Given the description of an element on the screen output the (x, y) to click on. 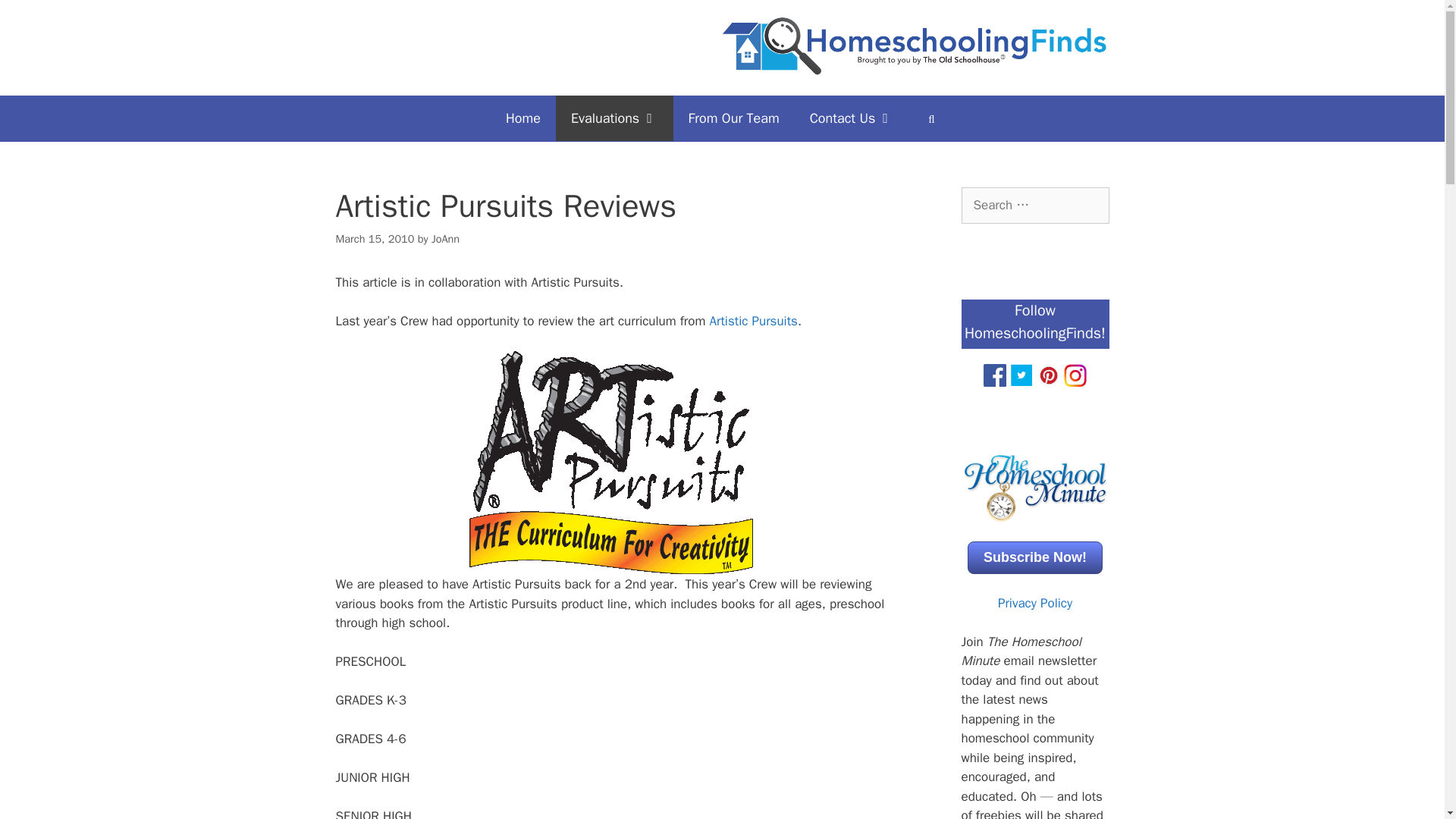
Search for: (1034, 205)
View all posts by JoAnn (445, 238)
Home (523, 117)
Contact Us (851, 117)
Artistic Pursuits (752, 320)
JoAnn (445, 238)
Evaluations (614, 117)
From Our Team (733, 117)
